Given the description of an element on the screen output the (x, y) to click on. 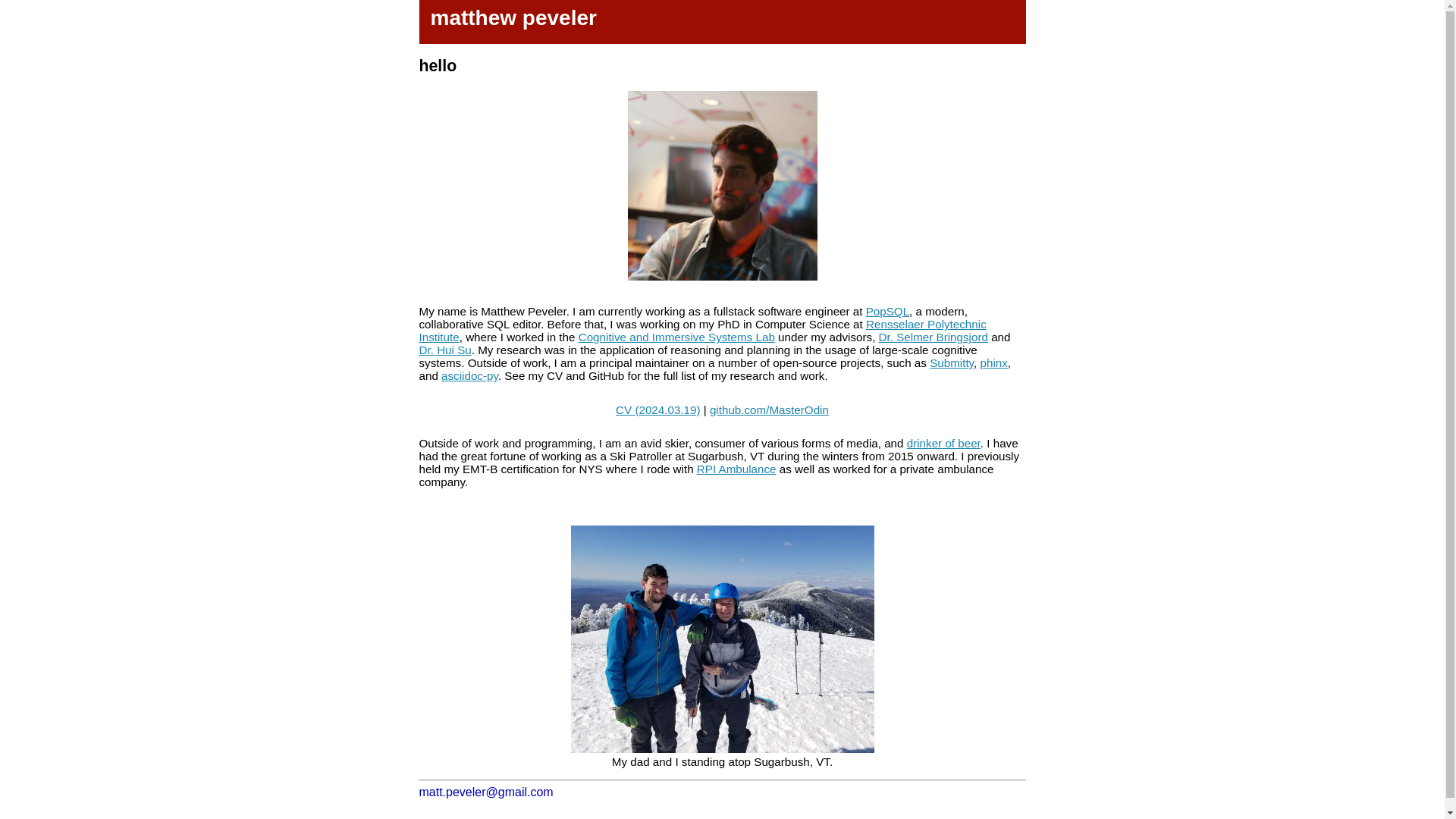
phinx (993, 362)
Rensselaer Polytechnic Institute (702, 330)
PopSQL (887, 310)
Submitty (952, 362)
Cognitive and Immersive Systems Lab (676, 336)
Dr. Hui Su (444, 349)
asciidoc-py (469, 375)
matthew peveler (513, 17)
RPI Ambulance (736, 468)
drinker of beer (943, 442)
Dr. Selmer Bringsjord (933, 336)
